Given the description of an element on the screen output the (x, y) to click on. 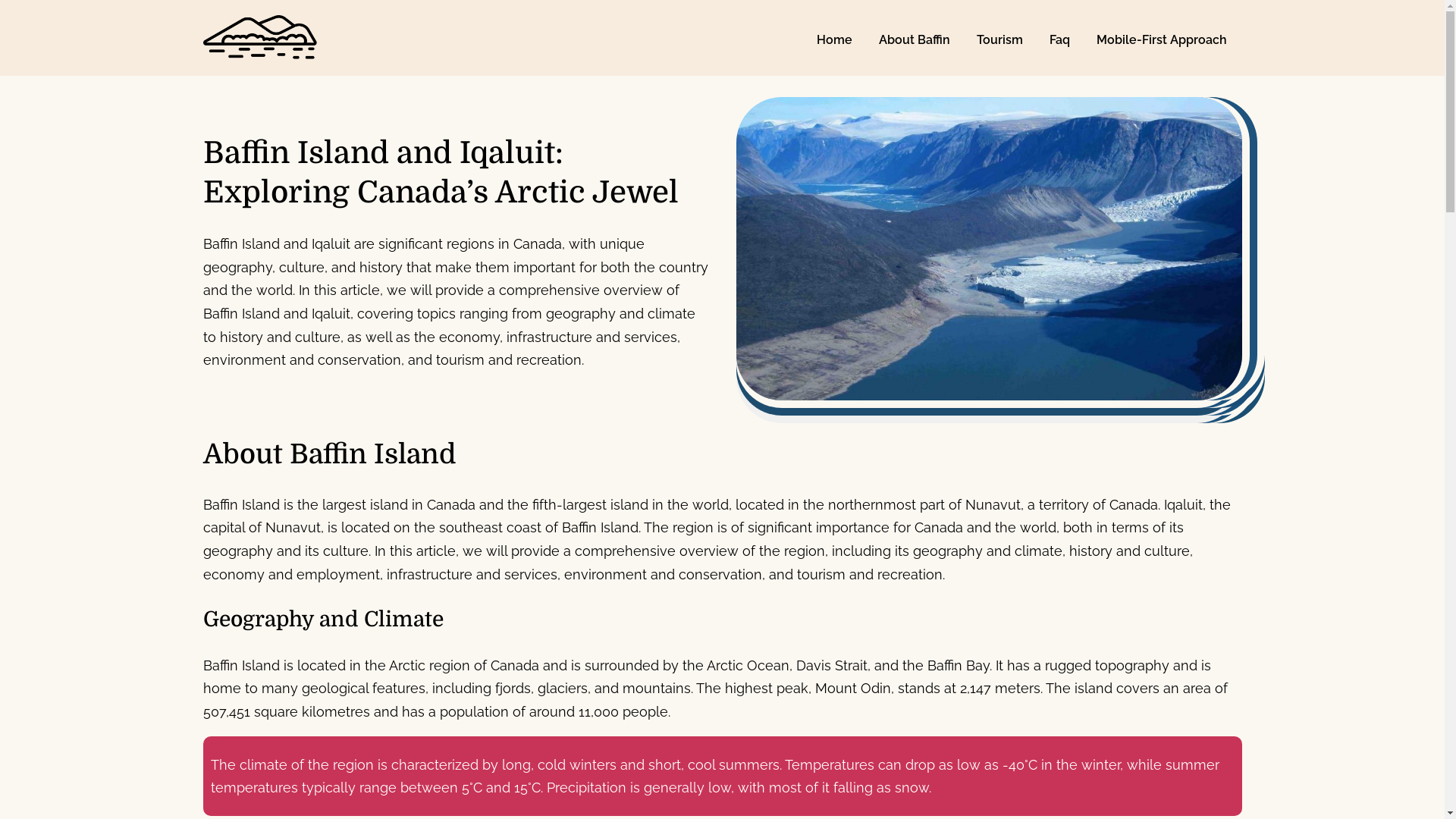
Mobile-First Approach Element type: text (1162, 39)
Baffin Island Element type: text (315, 82)
Tourism Element type: text (1000, 39)
About Baffin Element type: text (916, 39)
Faq Element type: text (1060, 39)
Home Element type: text (836, 39)
